Given the description of an element on the screen output the (x, y) to click on. 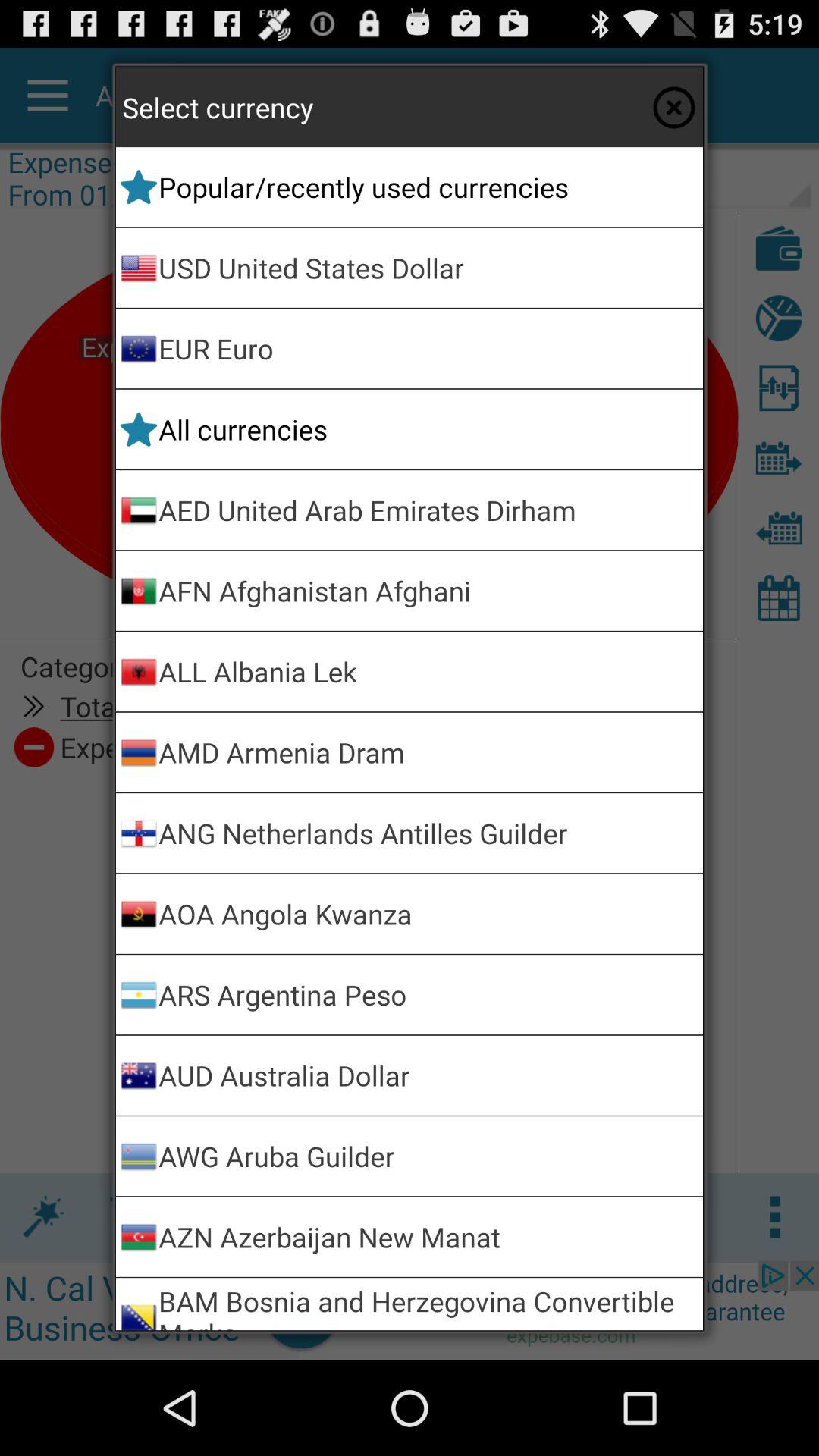
swipe to ang netherlands antilles item (427, 833)
